Given the description of an element on the screen output the (x, y) to click on. 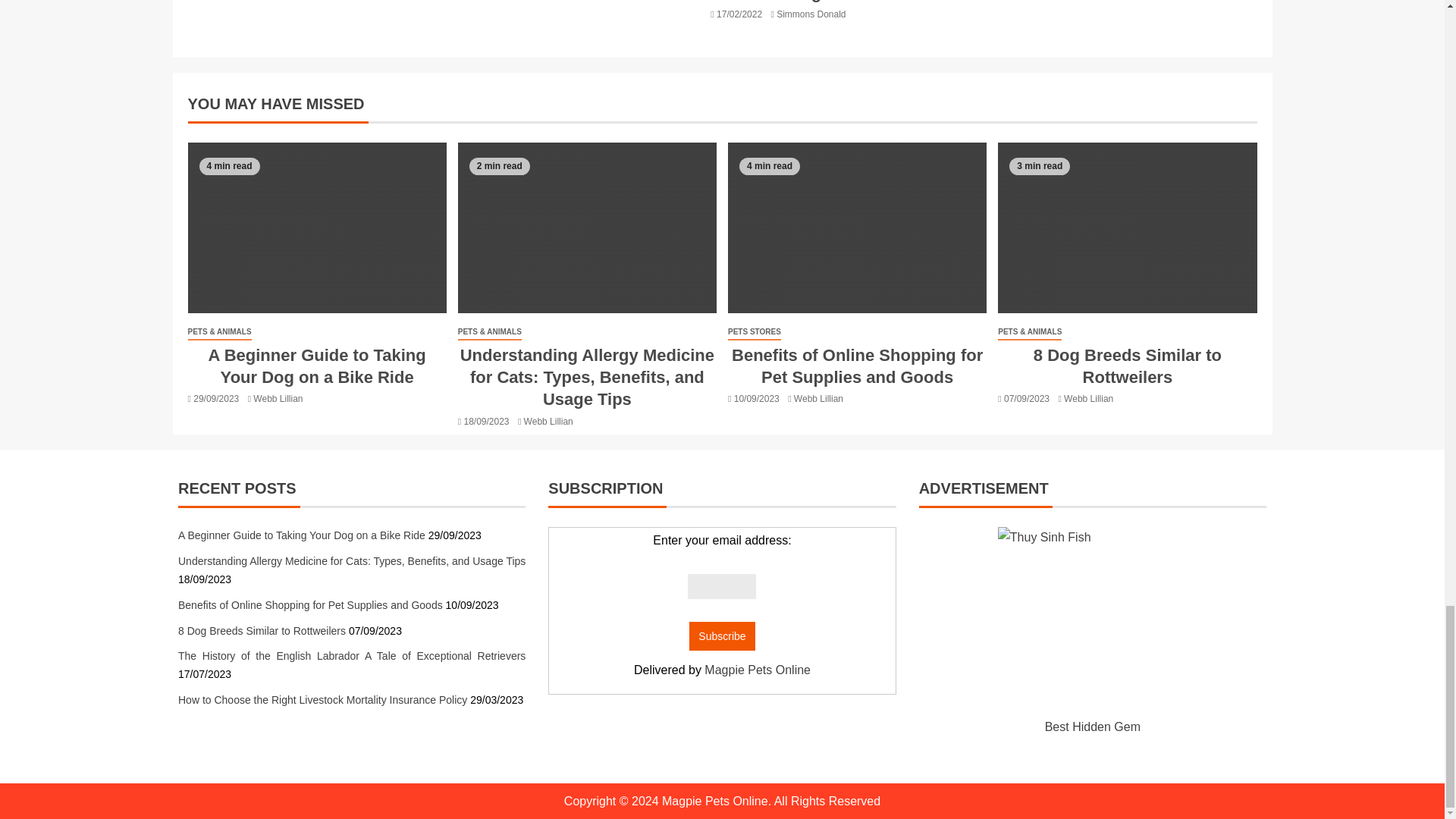
Subscribe (721, 635)
